Given the description of an element on the screen output the (x, y) to click on. 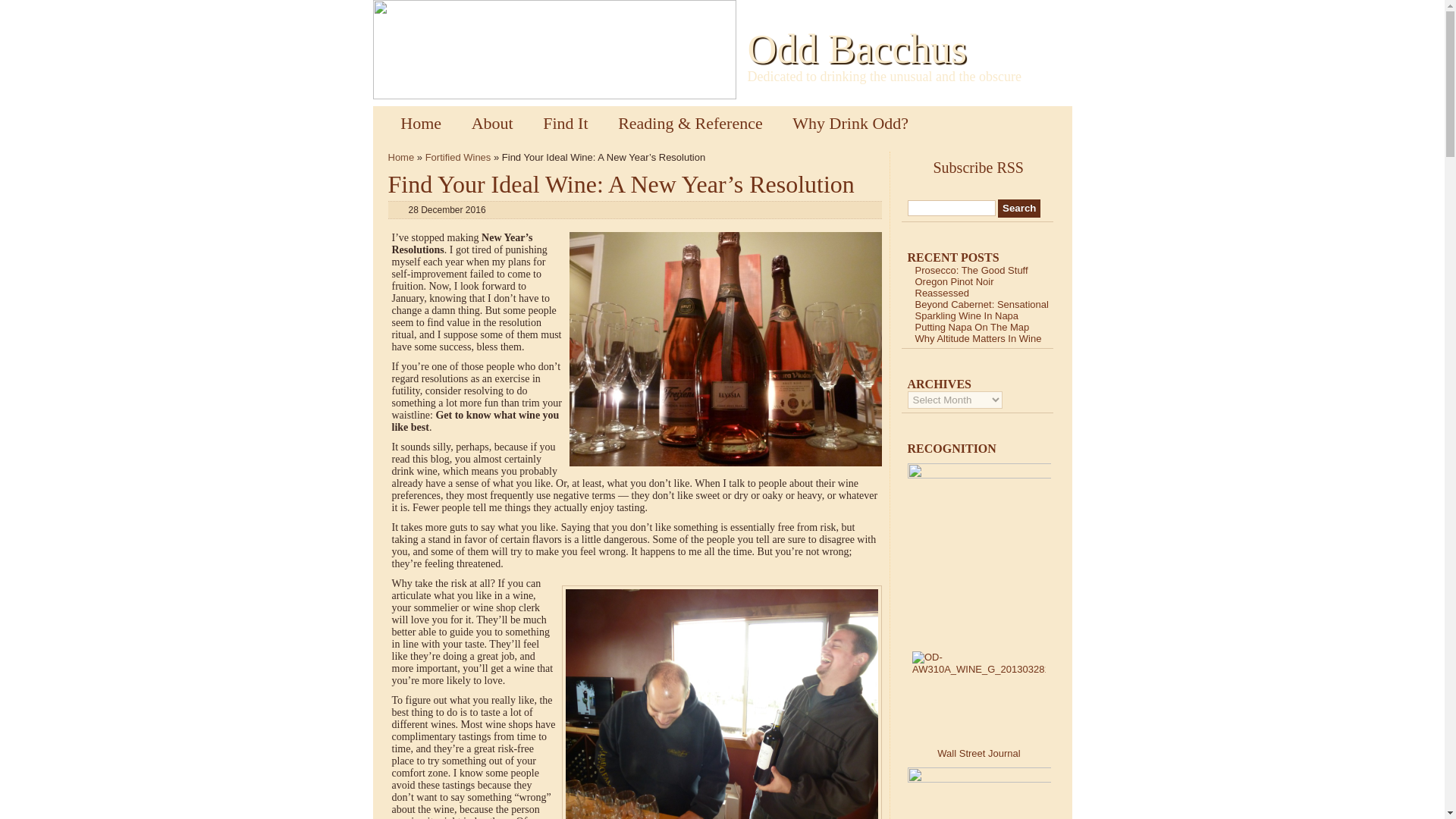
Prosecco: The Good Stuff (970, 270)
Home (401, 156)
Beyond Cabernet: Sensational Sparkling Wine In Napa (981, 309)
About (492, 122)
Why Drink Odd? (850, 122)
Odd Bacchus (857, 49)
Search (1019, 208)
Wall Street Journal (978, 753)
Fortified Wines (458, 156)
Find It (564, 122)
Home (420, 122)
Oregon Pinot Noir Reassessed (953, 287)
Search (1019, 208)
Putting Napa On The Map (971, 326)
Why Altitude Matters In Wine (977, 337)
